Given the description of an element on the screen output the (x, y) to click on. 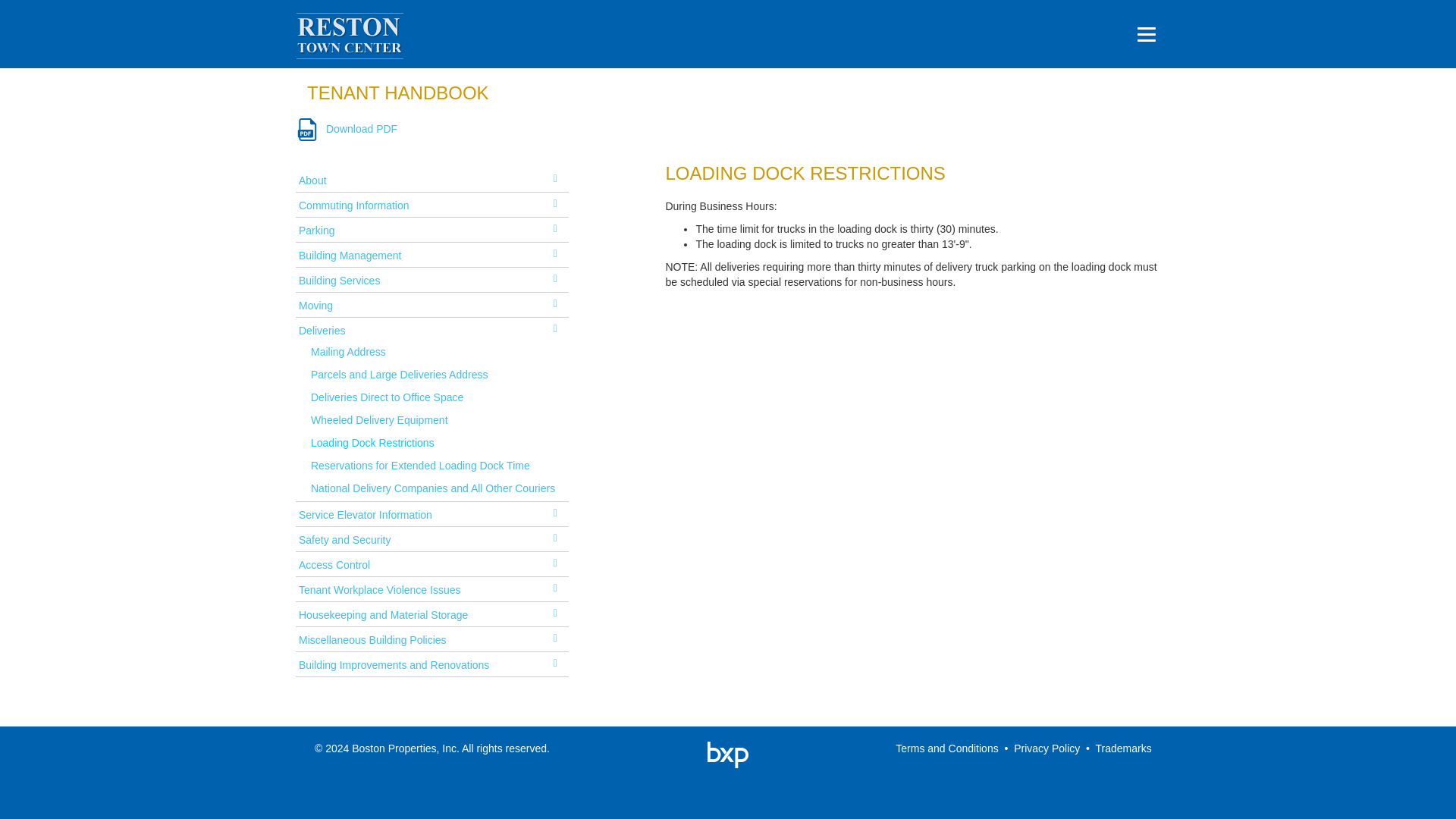
Trademarks (1123, 748)
Terms and Conditions (946, 748)
Privacy Policy (1046, 748)
